Given the description of an element on the screen output the (x, y) to click on. 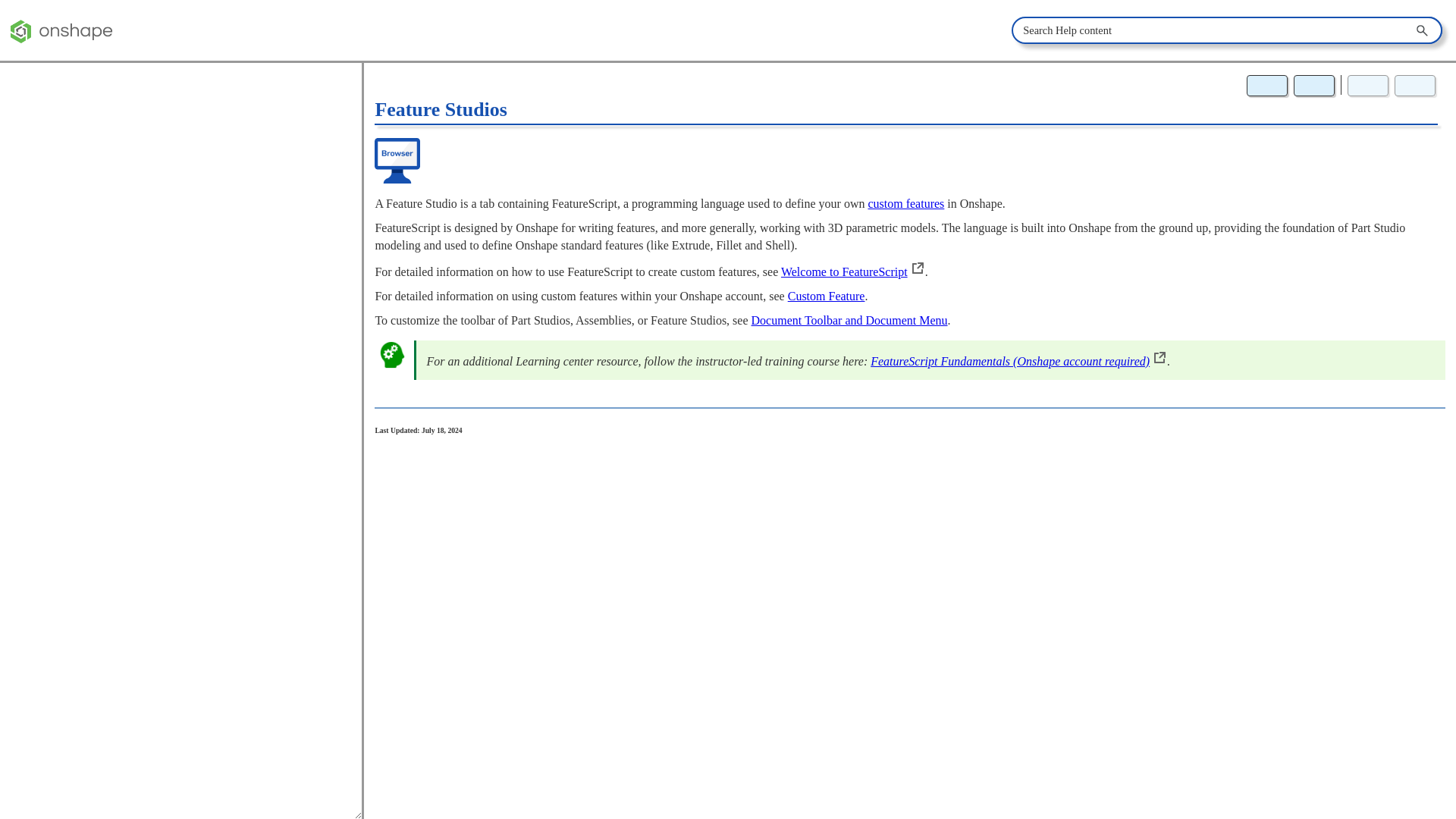
custom features (905, 203)
Document Toolbar and Document Menu (849, 319)
Next page (1414, 85)
Custom Feature (825, 295)
Previous page (1368, 85)
Search Help content (1423, 30)
Print (1314, 85)
Expand all (1266, 85)
